Given the description of an element on the screen output the (x, y) to click on. 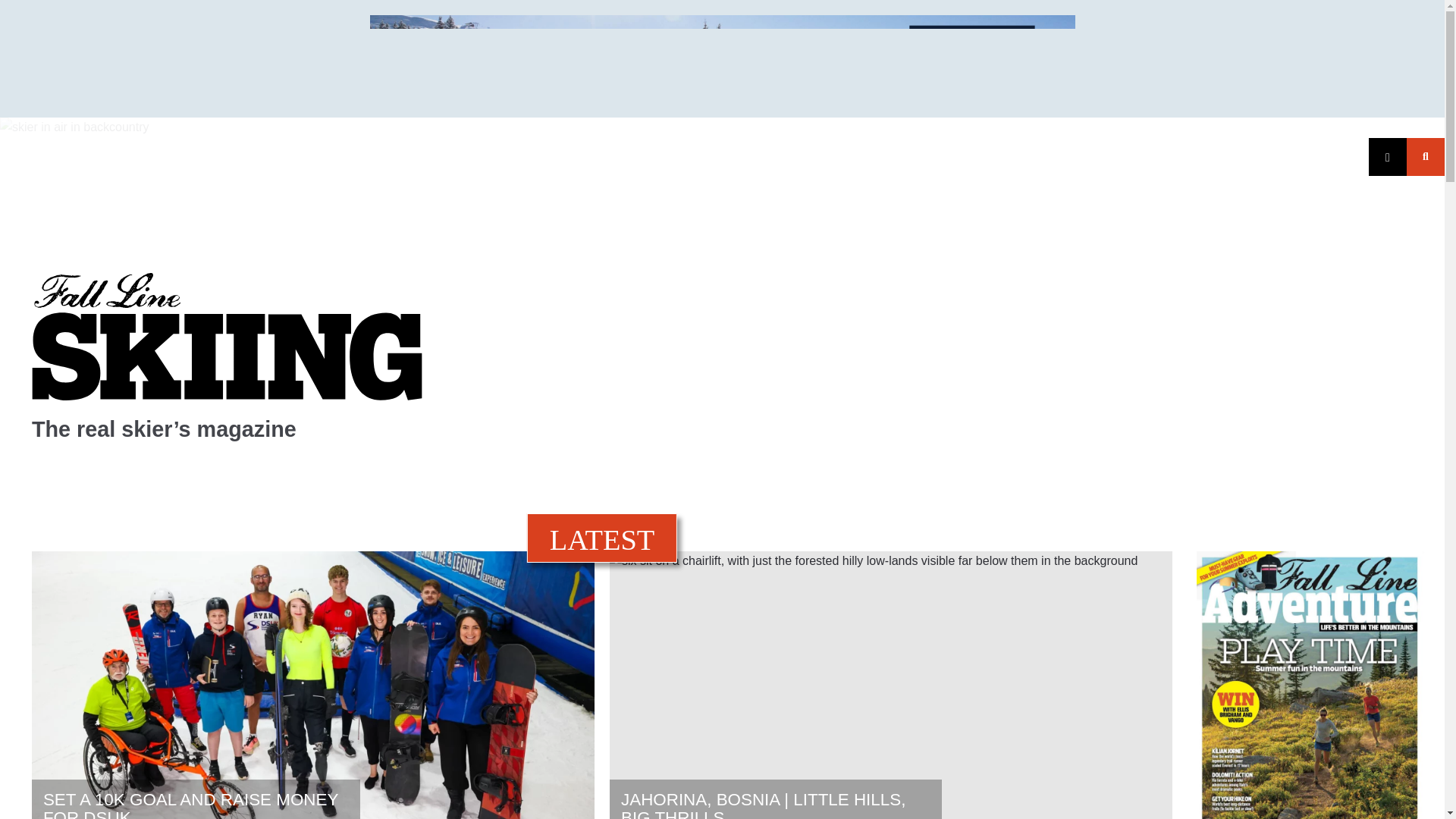
SET A 10K GOAL AND RAISE MONEY FOR DSUK (195, 799)
LATEST (602, 540)
